Given the description of an element on the screen output the (x, y) to click on. 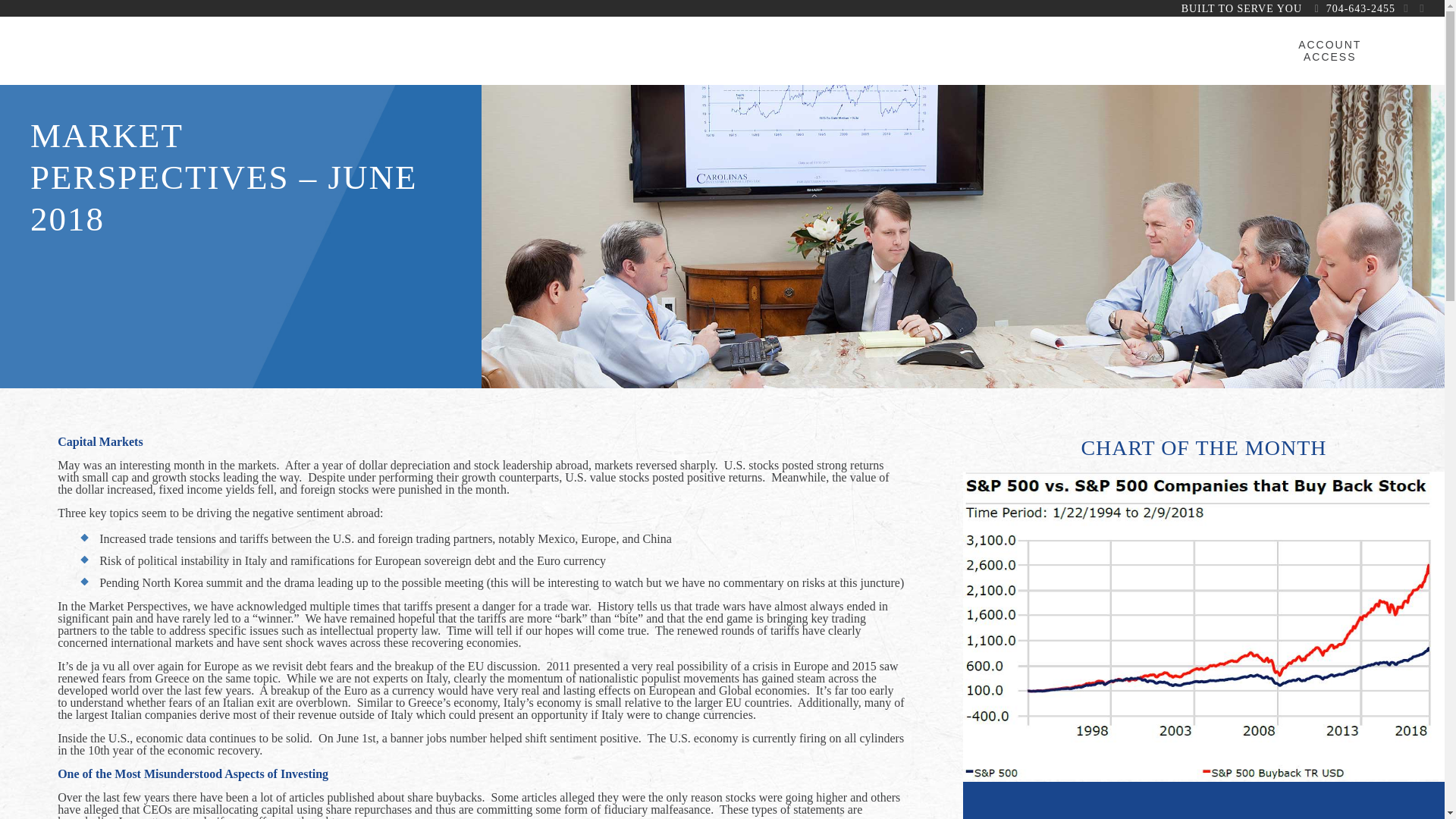
CONTACT (1212, 50)
ACCOUNT ACCESS (1329, 50)
BUILT TO SERVE YOU (1240, 8)
INSIGHTS (1122, 50)
LinkedIn (1421, 8)
OUR FIRM (606, 50)
Twitter (1405, 8)
704-643-2455 (1360, 8)
Carolinas Investment Consulting (144, 48)
